Given the description of an element on the screen output the (x, y) to click on. 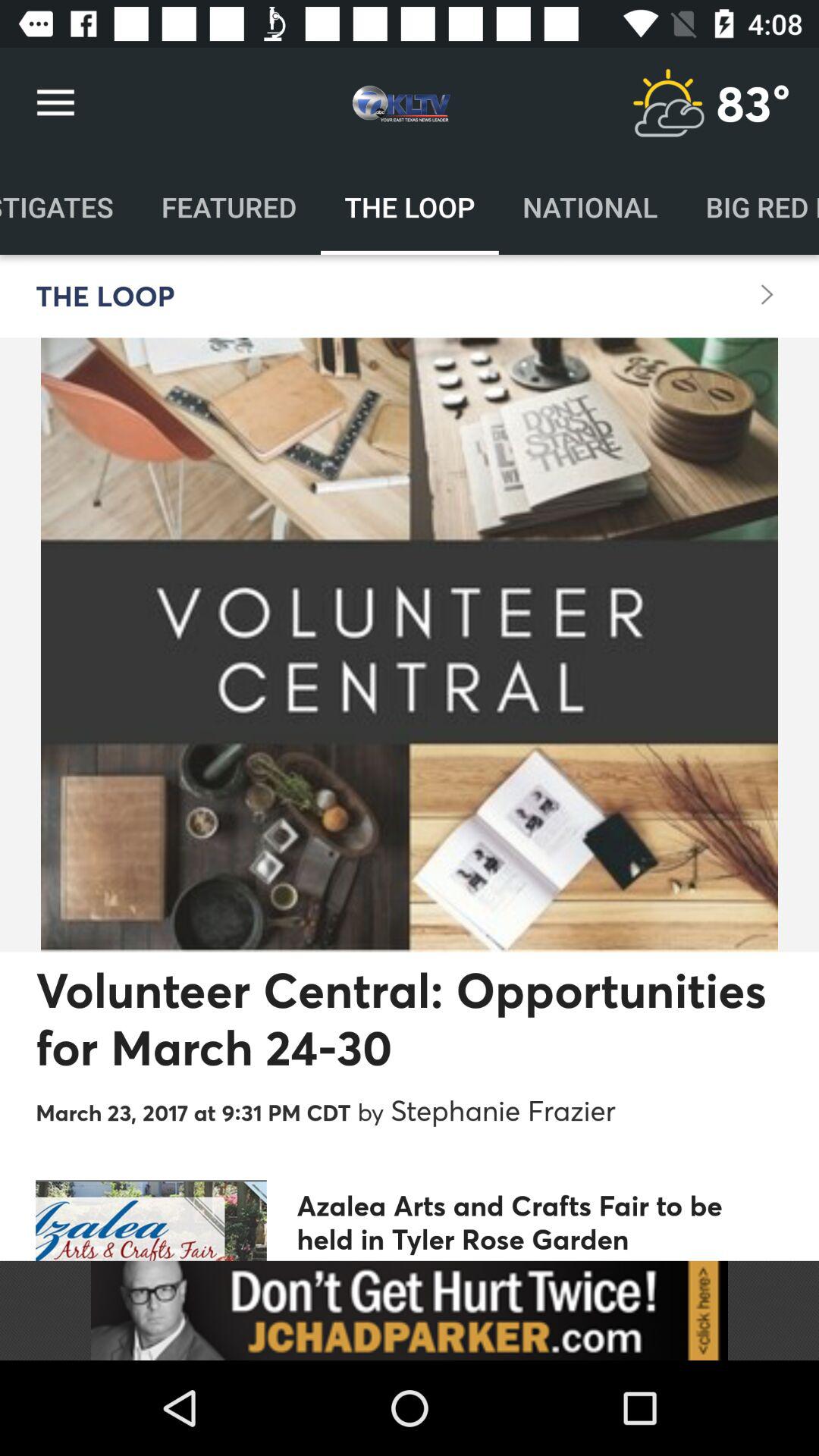
advertisement option (409, 1310)
